Given the description of an element on the screen output the (x, y) to click on. 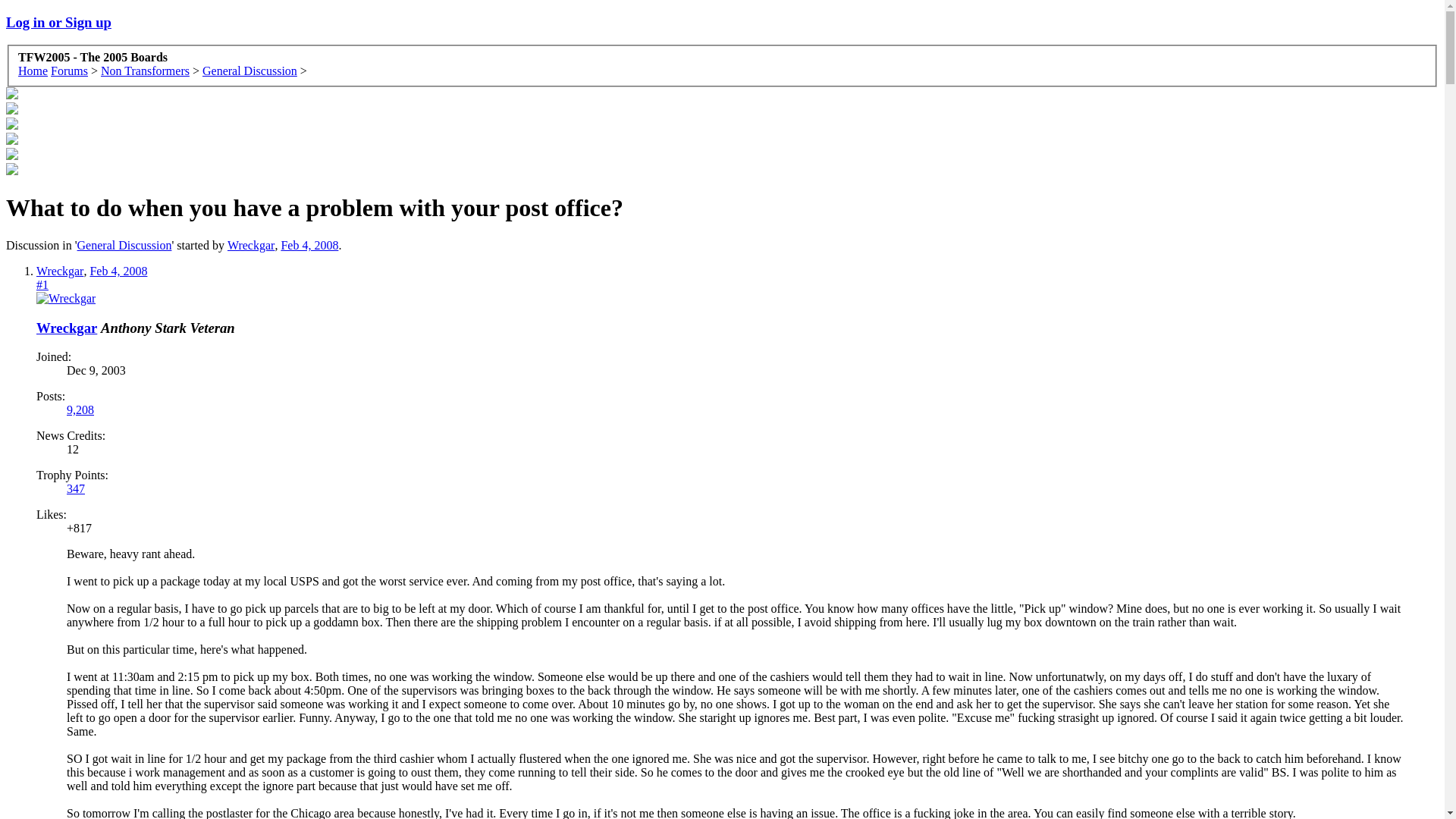
Home (32, 70)
Wreckgar (251, 245)
Wreckgar (59, 270)
347 (75, 488)
Feb 4, 2008 at 6:55 PM (309, 245)
Permalink (117, 270)
General Discussion (124, 245)
Wreckgar (66, 327)
Feb 4, 2008 (309, 245)
Log in or Sign up (58, 22)
